Given the description of an element on the screen output the (x, y) to click on. 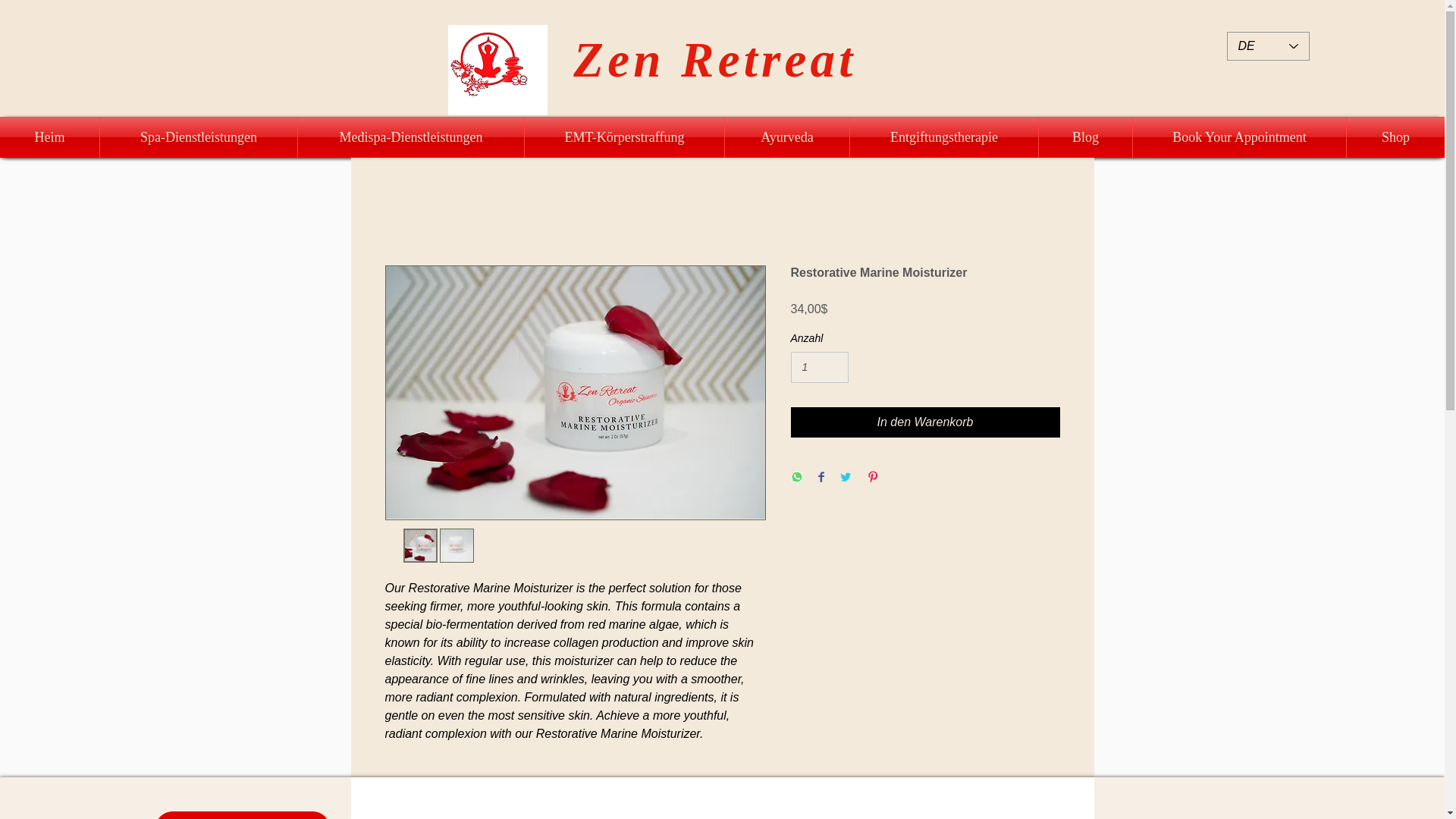
Ayurveda (786, 137)
Book Your Appointment (1238, 137)
In den Warenkorb (924, 422)
Entgiftungstherapie (944, 137)
Heim (49, 137)
Blog (1085, 137)
Medispa-Dienstleistungen (411, 137)
1 (818, 367)
Spa-Dienstleistungen (198, 137)
